Given the description of an element on the screen output the (x, y) to click on. 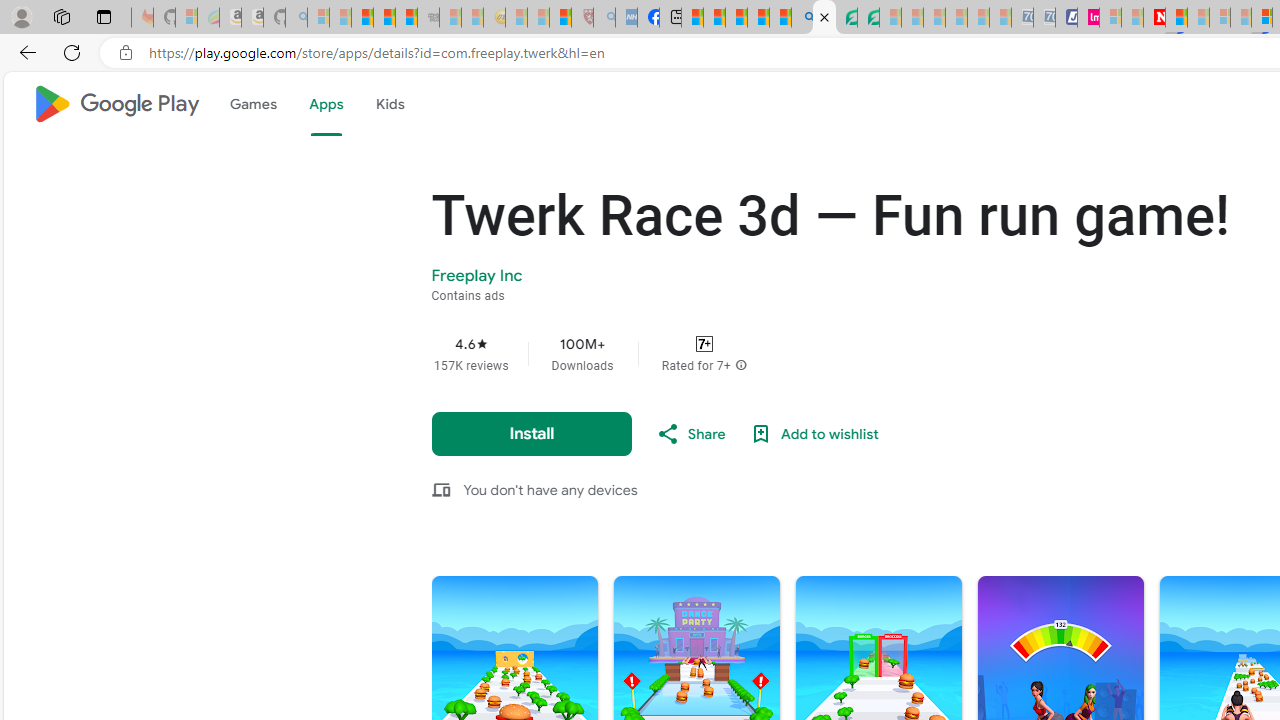
Microsoft Word - consumer-privacy address update 2.2021 (868, 17)
Google Play logo (115, 104)
Jobs - lastminute.com Investor Portal (1088, 17)
Content rating (703, 344)
Share (689, 433)
